Given the description of an element on the screen output the (x, y) to click on. 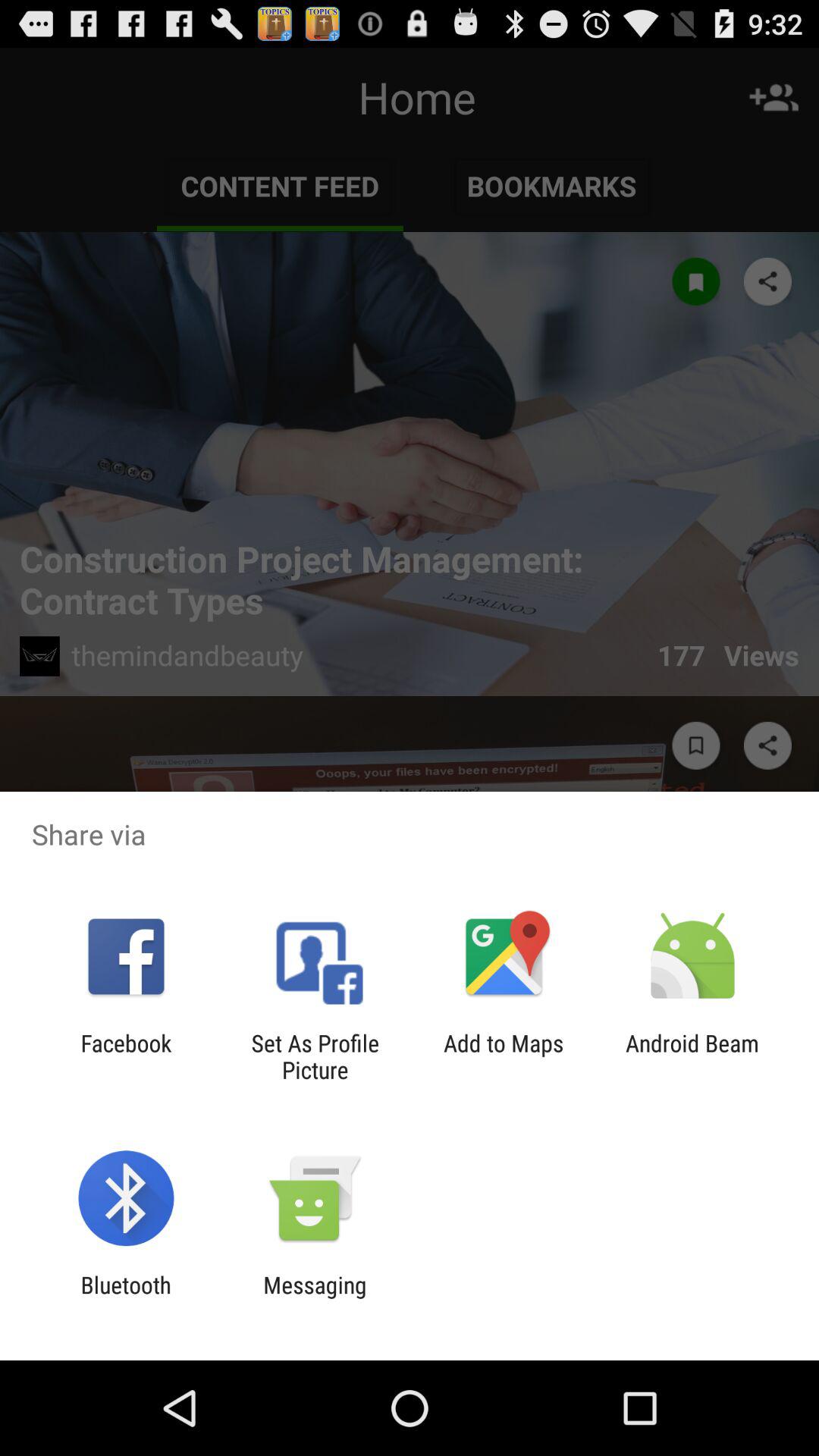
tap app to the left of set as profile app (125, 1056)
